Given the description of an element on the screen output the (x, y) to click on. 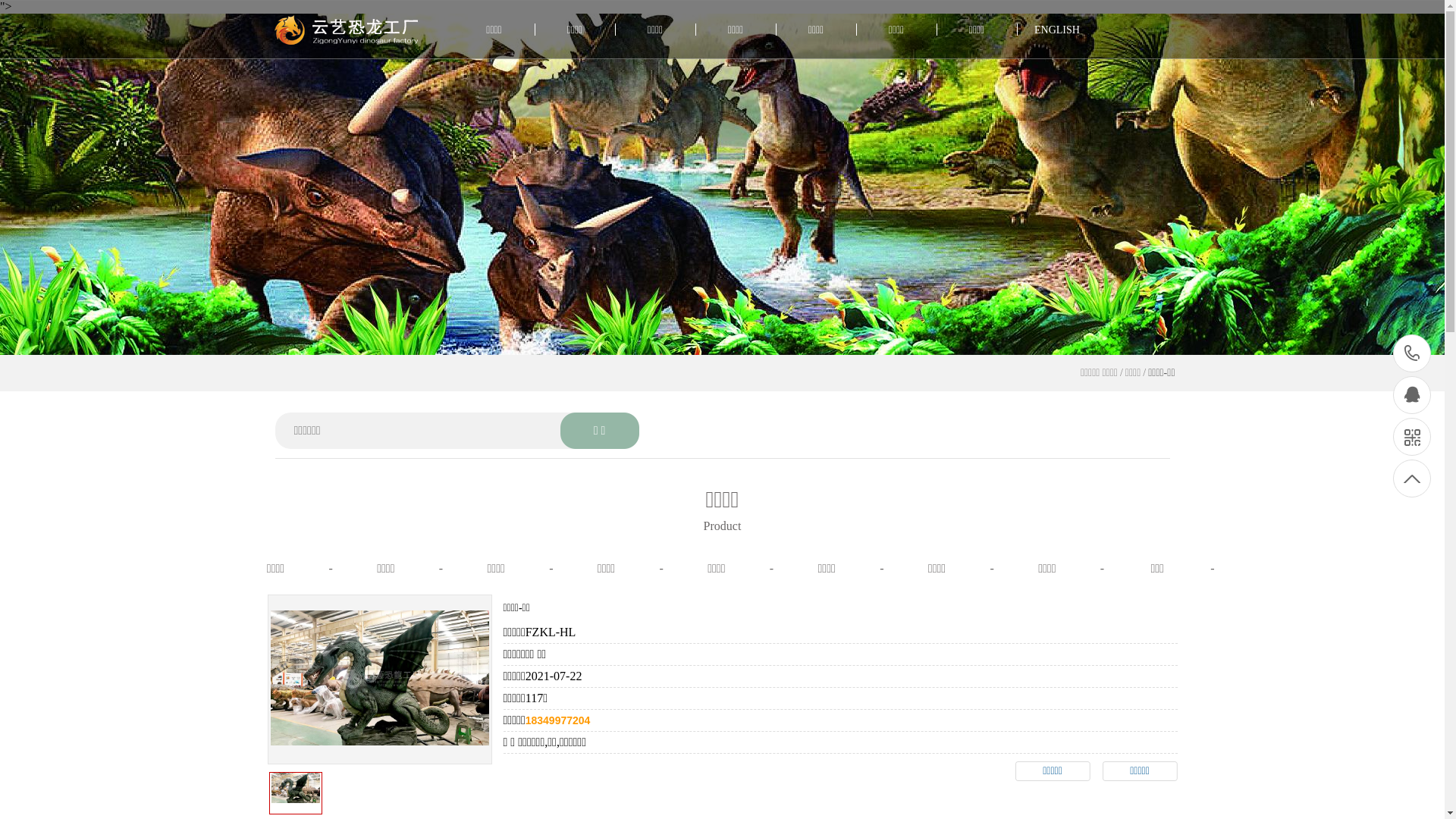
ENGLISH Element type: text (1057, 29)
tel Element type: hover (1411, 353)
